Given the description of an element on the screen output the (x, y) to click on. 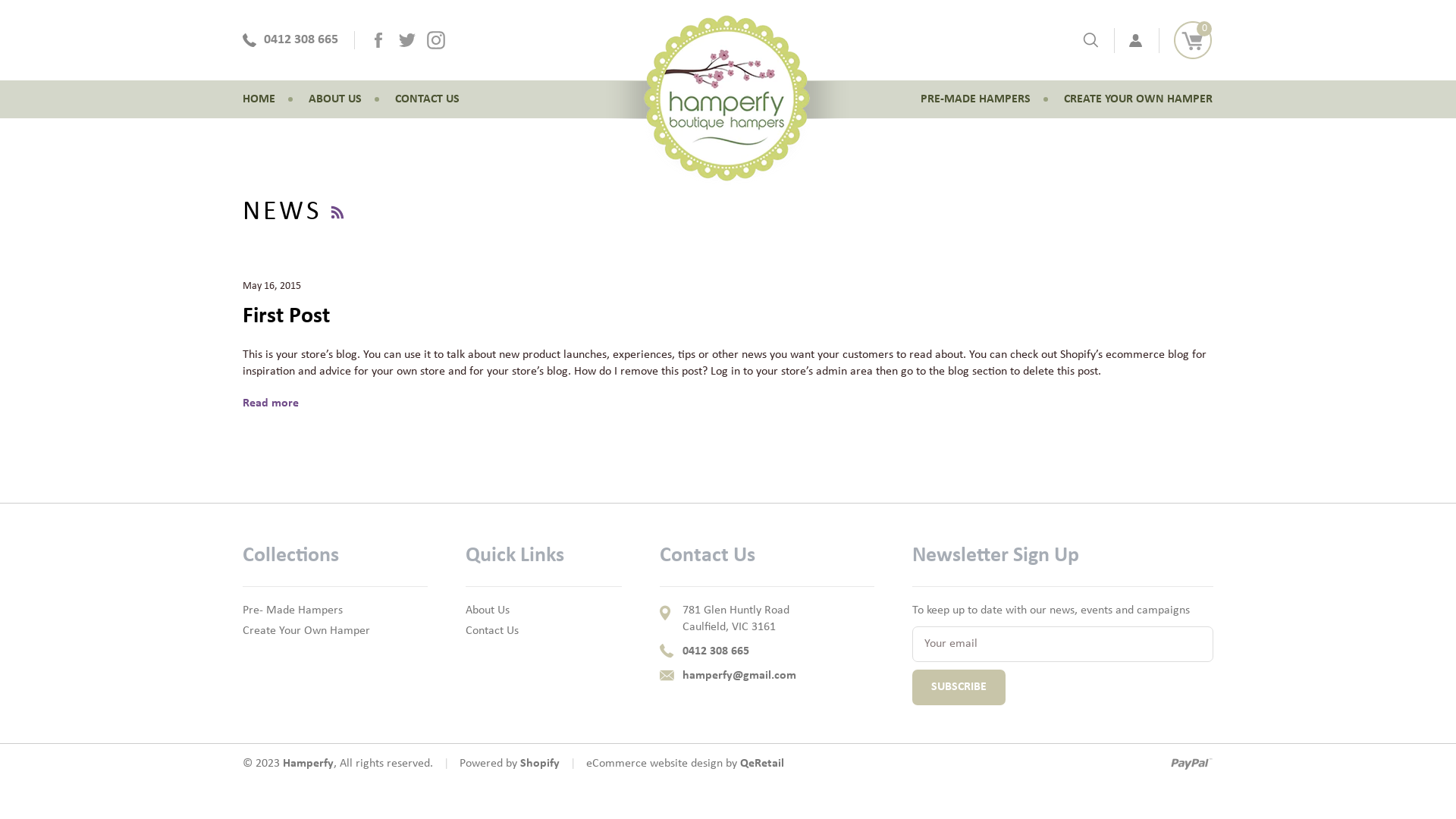
0412 308 665 Element type: text (766, 651)
HOME Element type: text (258, 99)
Cart
0 Element type: text (1192, 40)
RSS Element type: text (337, 211)
Create Your Own Hamper Element type: text (306, 630)
Twitter Element type: text (407, 40)
CREATE YOUR OWN HAMPER Element type: text (1137, 99)
Facebook Element type: text (378, 40)
Translation missing: en.layout.header.my_account Element type: hover (1135, 39)
Pre- Made Hampers Element type: text (292, 610)
Contact Us Element type: text (491, 630)
Shopify Element type: text (539, 763)
Search Element type: text (1090, 39)
0412 308 665 Element type: text (290, 40)
Hamperfy Element type: text (307, 763)
CONTACT US Element type: text (426, 99)
eCommerce website design Element type: text (654, 763)
Instagram Element type: text (435, 40)
SUBSCRIBE Element type: text (958, 687)
Read more Element type: text (270, 403)
hamperfy@gmail.com Element type: text (766, 675)
First Post Element type: text (285, 316)
ABOUT US Element type: text (334, 99)
PRE-MADE HAMPERS Element type: text (975, 99)
About Us Element type: text (487, 610)
